Given the description of an element on the screen output the (x, y) to click on. 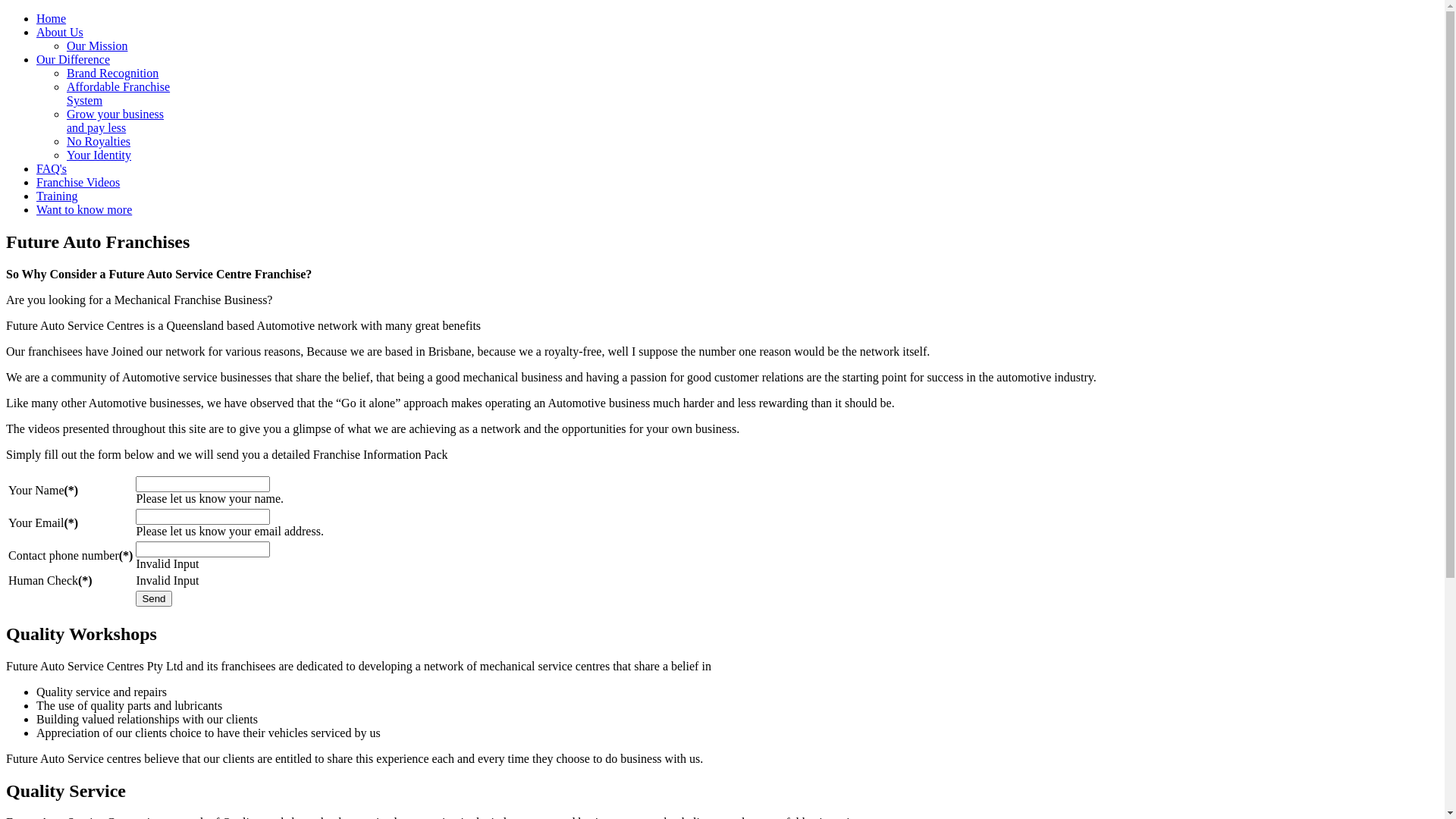
FAQ's Element type: text (51, 168)
Want to know more Element type: text (83, 209)
Home Element type: text (50, 18)
Franchise Videos Element type: text (77, 181)
Our Difference Element type: text (72, 59)
Training Element type: text (57, 195)
Our Mission Element type: text (96, 45)
No Royalties Element type: text (98, 140)
Grow your business and pay less Element type: text (114, 120)
Send Element type: text (153, 598)
Affordable Franchise System Element type: text (117, 93)
Brand Recognition Element type: text (112, 72)
About Us Element type: text (59, 31)
Your Identity Element type: text (98, 154)
